Given the description of an element on the screen output the (x, y) to click on. 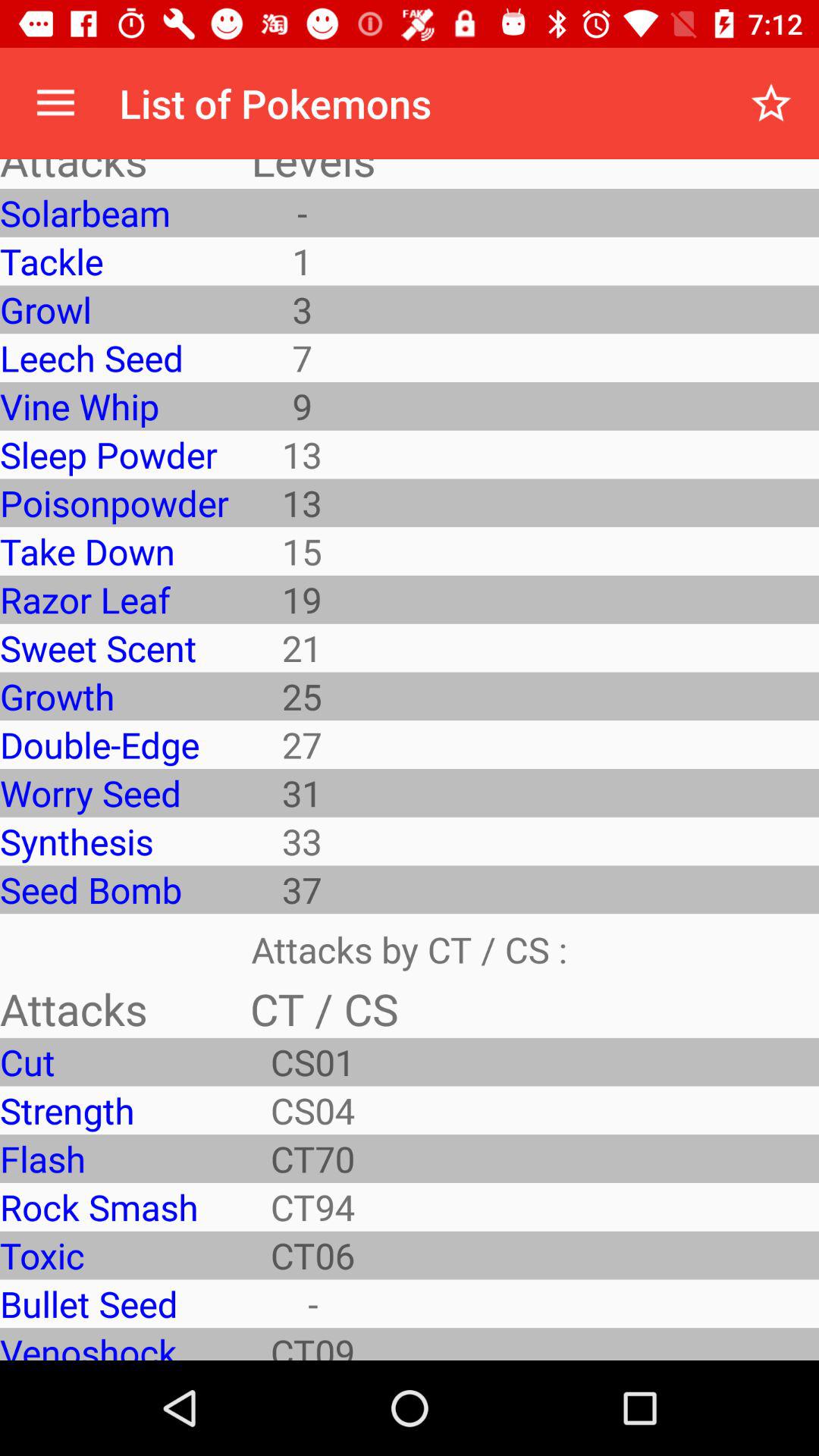
choose venoshock (113, 1344)
